Given the description of an element on the screen output the (x, y) to click on. 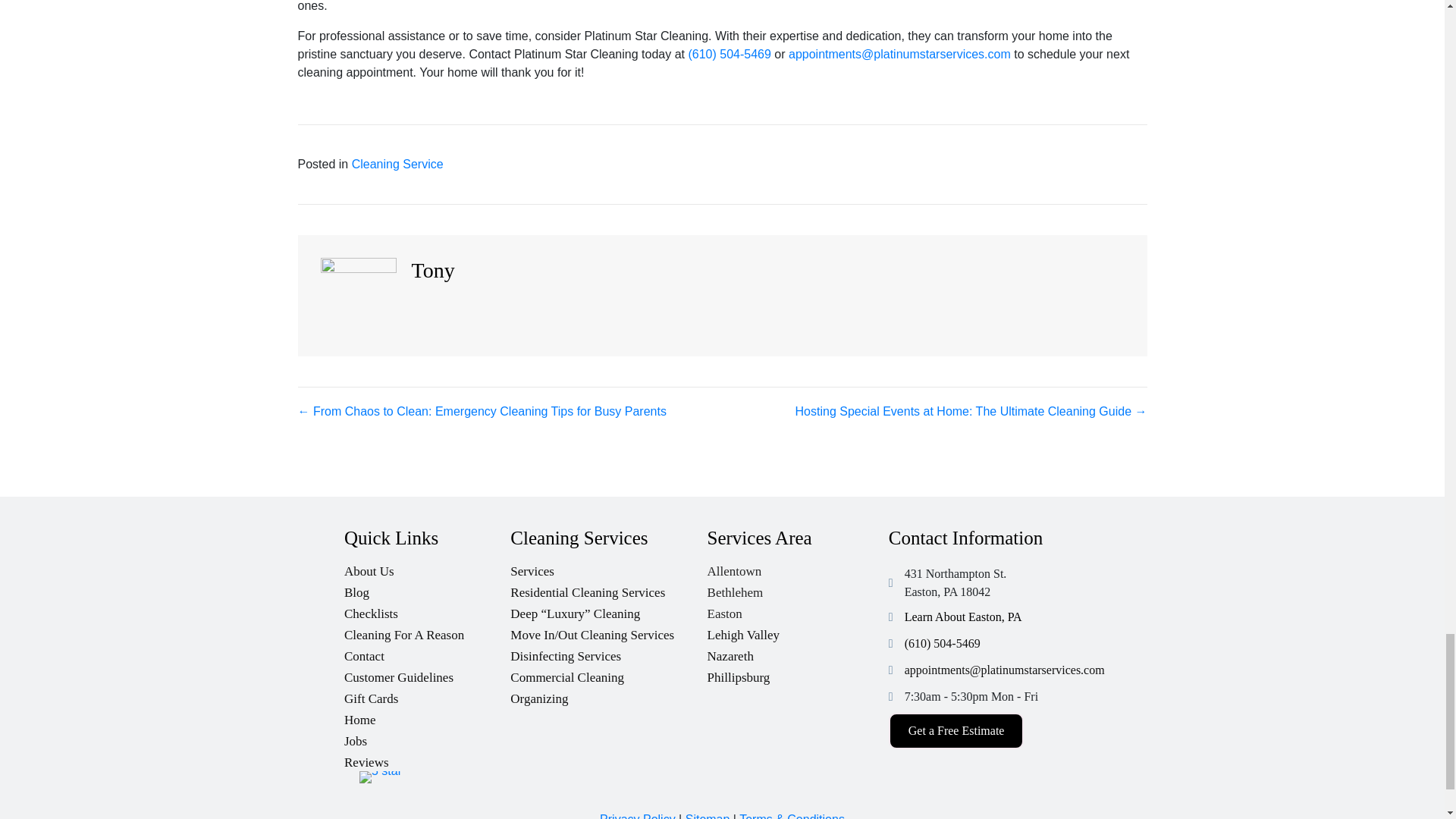
About Us (427, 567)
Cleaning Service (398, 164)
Contact (427, 652)
Home (427, 715)
Blog (427, 588)
Cleaning For A Reason (427, 630)
Gift Cards (427, 694)
Checklists (427, 609)
Customer Guidelines (427, 673)
